Given the description of an element on the screen output the (x, y) to click on. 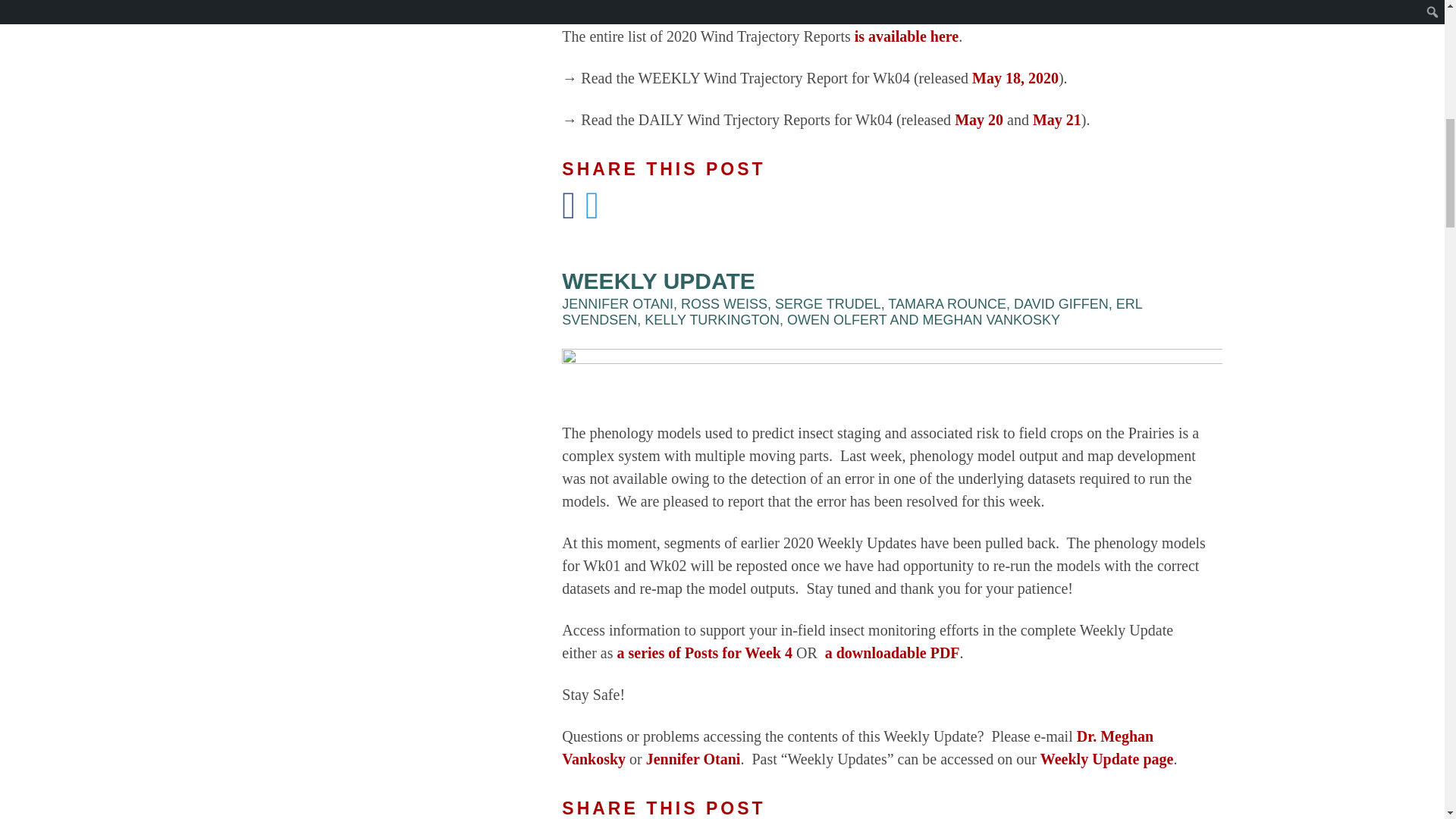
May 21 (1056, 119)
Jennifer Otani (693, 759)
Weekly Update page (1107, 759)
 a downloadable PDF (890, 652)
WEEKLY UPDATE (658, 280)
May 20 (979, 119)
May 18, 2020 (1015, 77)
Dr. Meghan Vankosky (857, 747)
a series of Posts for Week 4 (703, 652)
is available here (906, 36)
